Given the description of an element on the screen output the (x, y) to click on. 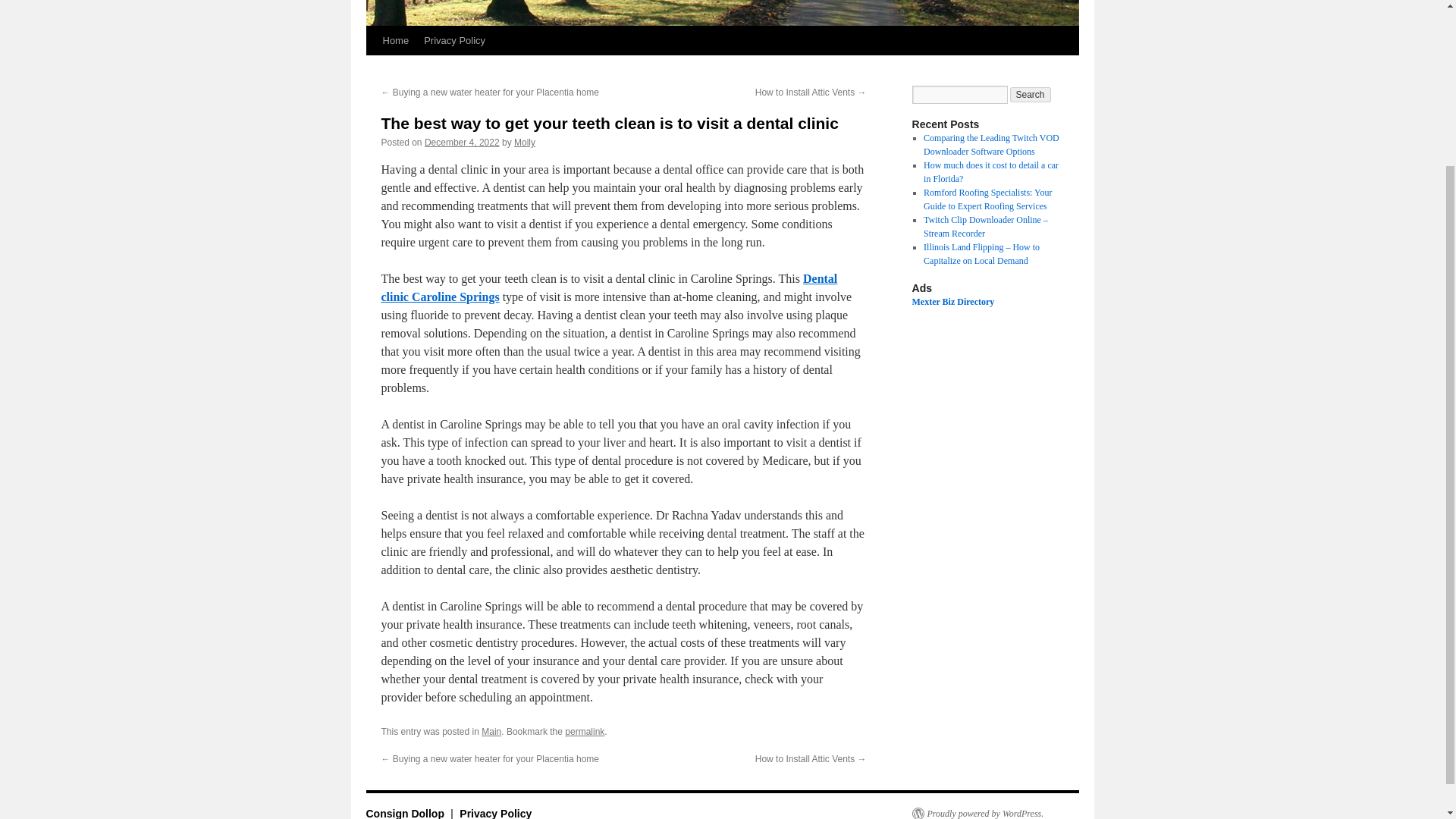
Dental clinic Caroline Springs (608, 287)
Home (395, 40)
Comparing the Leading Twitch VOD Downloader Software Options (991, 144)
Search (1030, 94)
Skip to content (372, 68)
How much does it cost to detail a car in Florida? (990, 171)
Privacy Policy (454, 40)
View all posts by Molly (524, 142)
6:56 am (462, 142)
Search (1030, 94)
permalink (584, 731)
Main (490, 731)
Skip to content (372, 68)
